Given the description of an element on the screen output the (x, y) to click on. 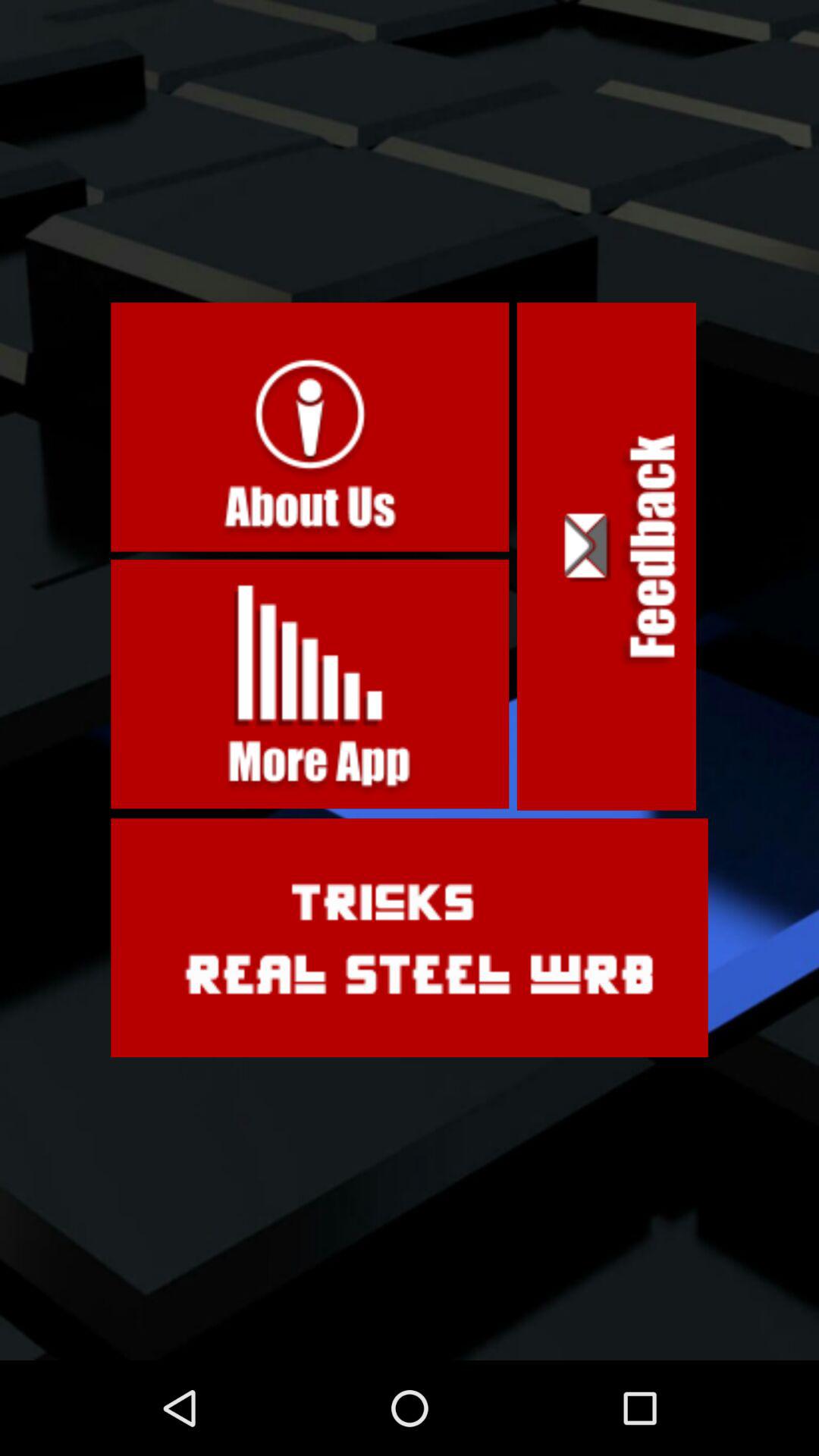
turn off icon at the top (309, 426)
